Given the description of an element on the screen output the (x, y) to click on. 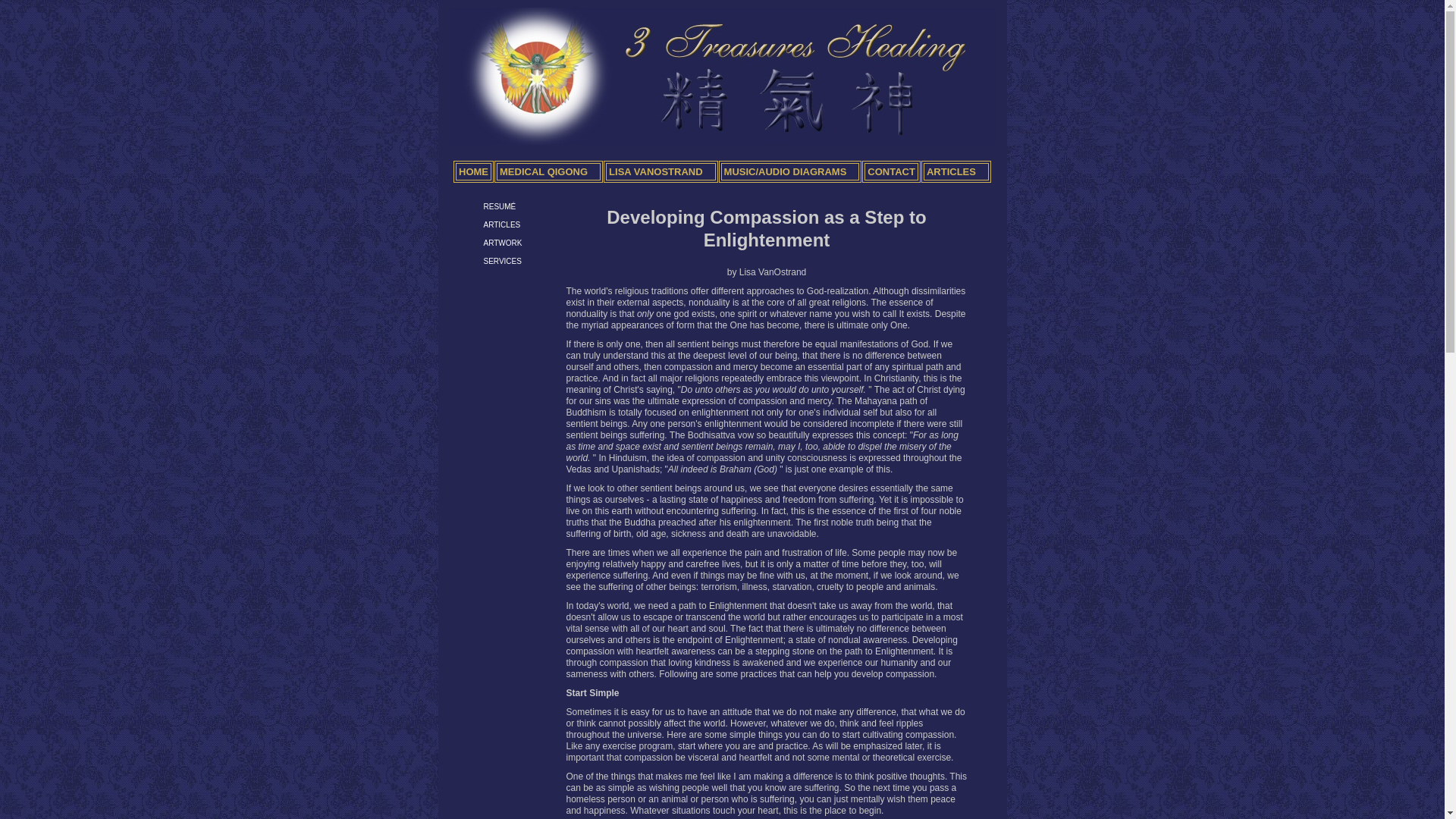
ARTWORK Element type: text (502, 242)
ARTICLES Element type: text (956, 171)
LISA VANOSTRAND Element type: text (660, 171)
HOME Element type: text (473, 171)
MEDICAL QIGONG Element type: text (548, 171)
ARTICLES Element type: text (501, 224)
MUSIC/AUDIO DIAGRAMS Element type: text (790, 171)
CONTACT Element type: text (891, 171)
SERVICES Element type: text (502, 261)
